Given the description of an element on the screen output the (x, y) to click on. 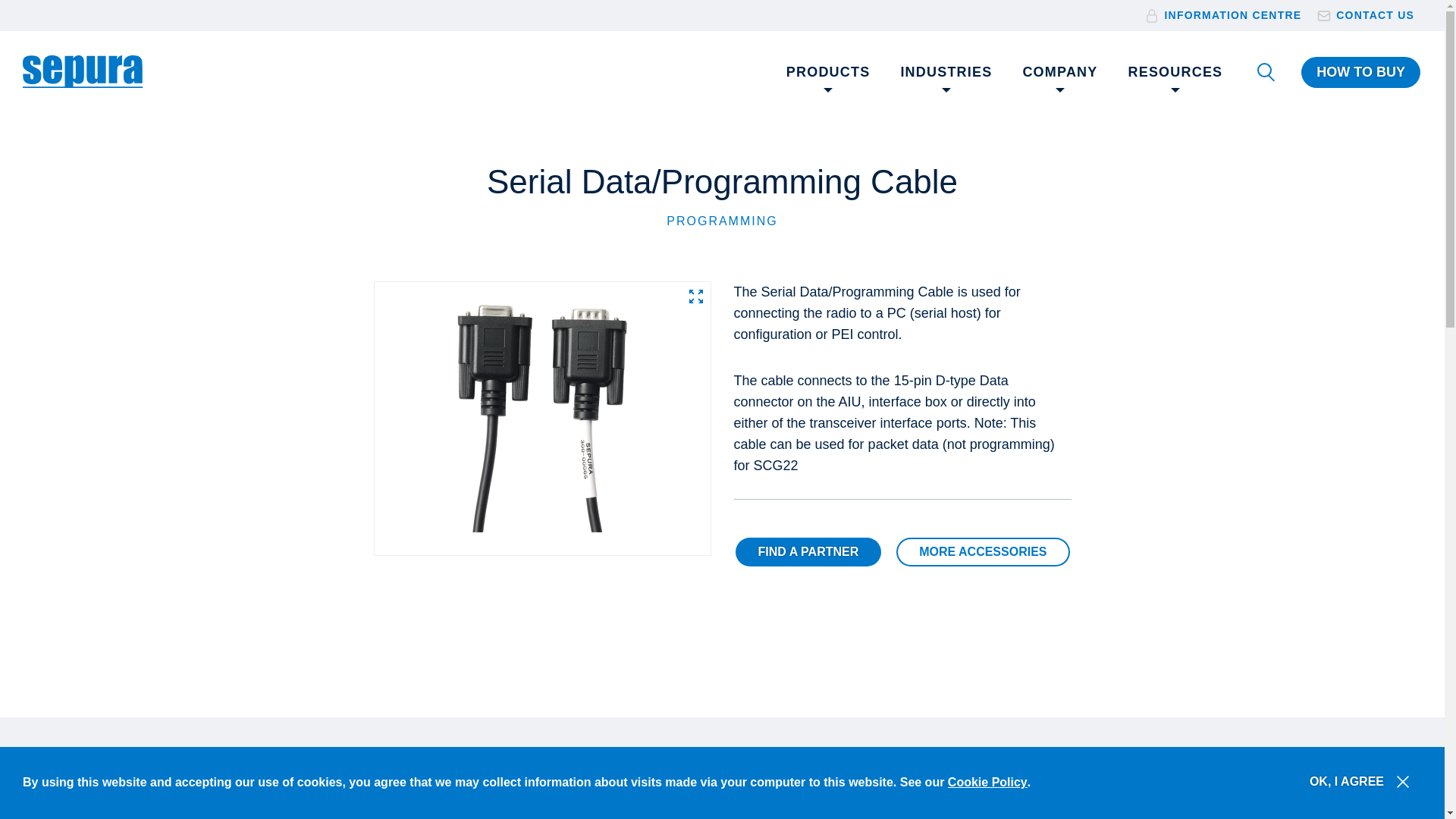
CONTACT US (1374, 15)
INDUSTRIES (946, 72)
PRODUCTS (828, 72)
INFORMATION CENTRE (1232, 15)
